Given the description of an element on the screen output the (x, y) to click on. 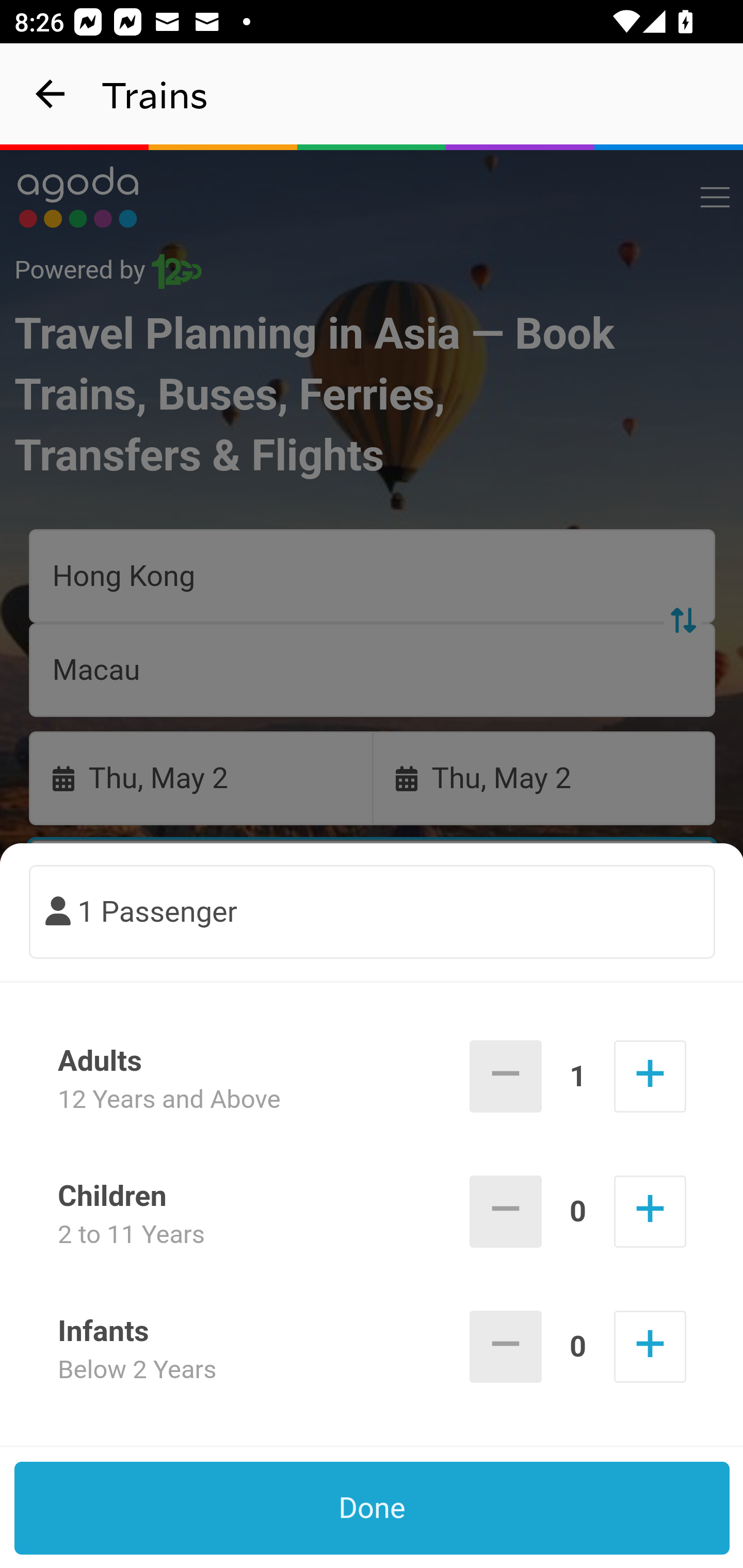
navigation_button (50, 93)
Find Tickets (372, 992)
Done (372, 1508)
